Given the description of an element on the screen output the (x, y) to click on. 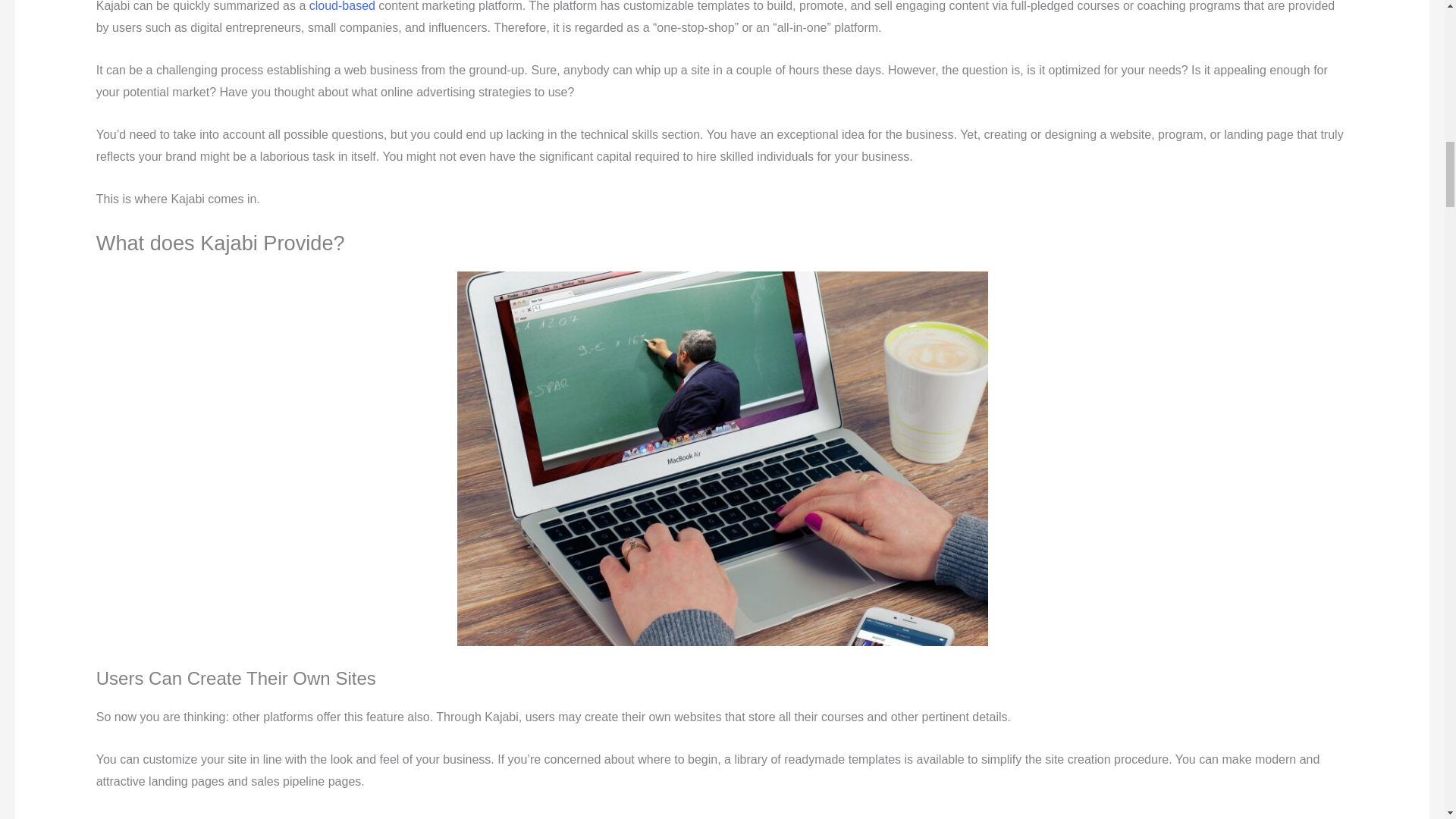
cloud-based (341, 6)
